Given the description of an element on the screen output the (x, y) to click on. 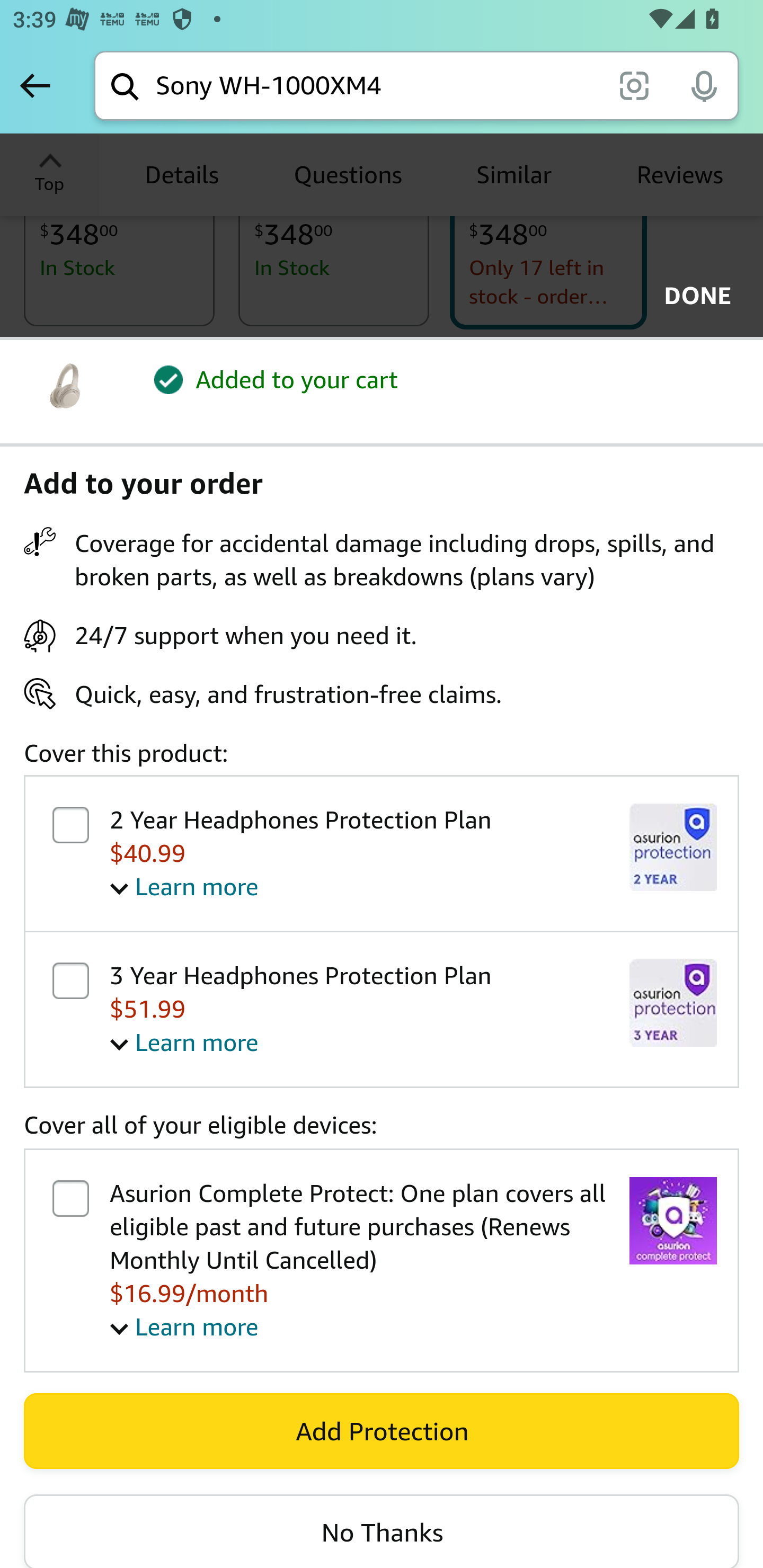
Back (35, 85)
scan it (633, 85)
DONE (691, 295)
Learn more (184, 886)
Learn more (184, 1042)
Learn more (184, 1326)
Add Protection (381, 1430)
No Thanks (381, 1531)
